Given the description of an element on the screen output the (x, y) to click on. 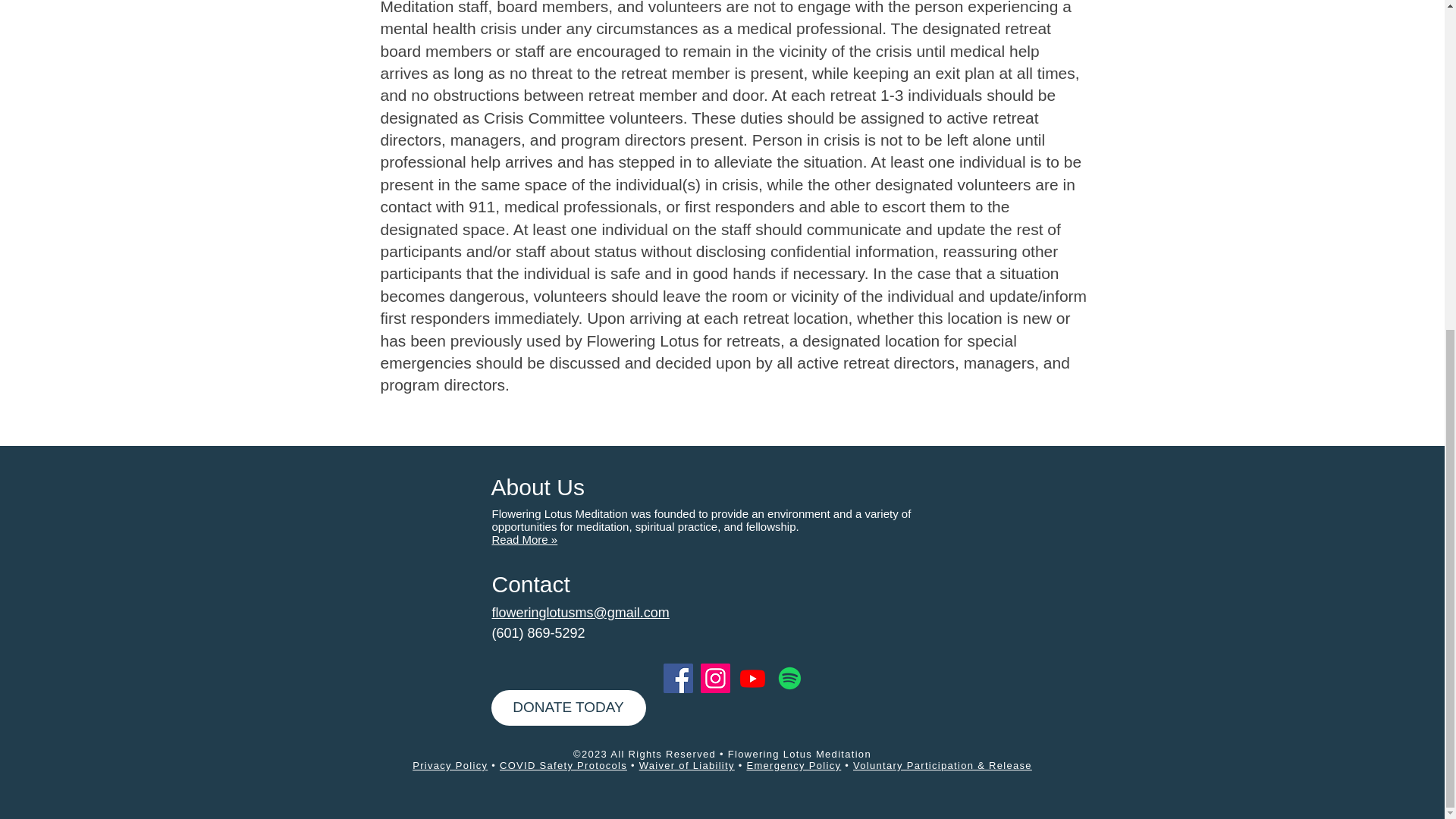
Emergency Policy (793, 765)
Privacy Policy (449, 765)
COVID Safety Protocols (563, 765)
DONATE TODAY (569, 707)
Waiver of Liability (687, 765)
